Given the description of an element on the screen output the (x, y) to click on. 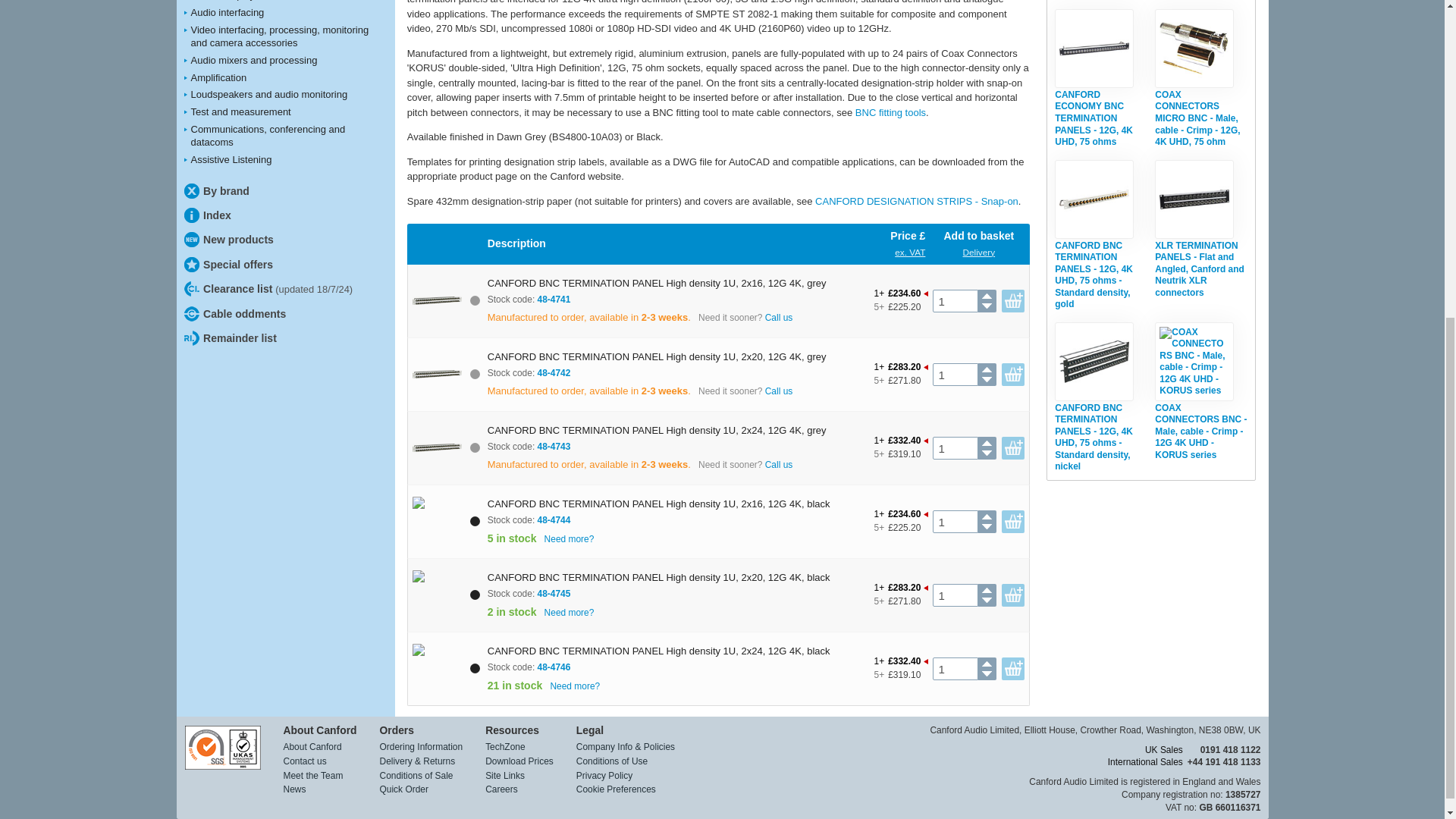
Add to basket (1013, 300)
English (718, 104)
Add to basket (1013, 374)
1 (954, 668)
1 (954, 594)
1 (954, 374)
1 (954, 447)
1 (954, 300)
1 (954, 521)
